Given the description of an element on the screen output the (x, y) to click on. 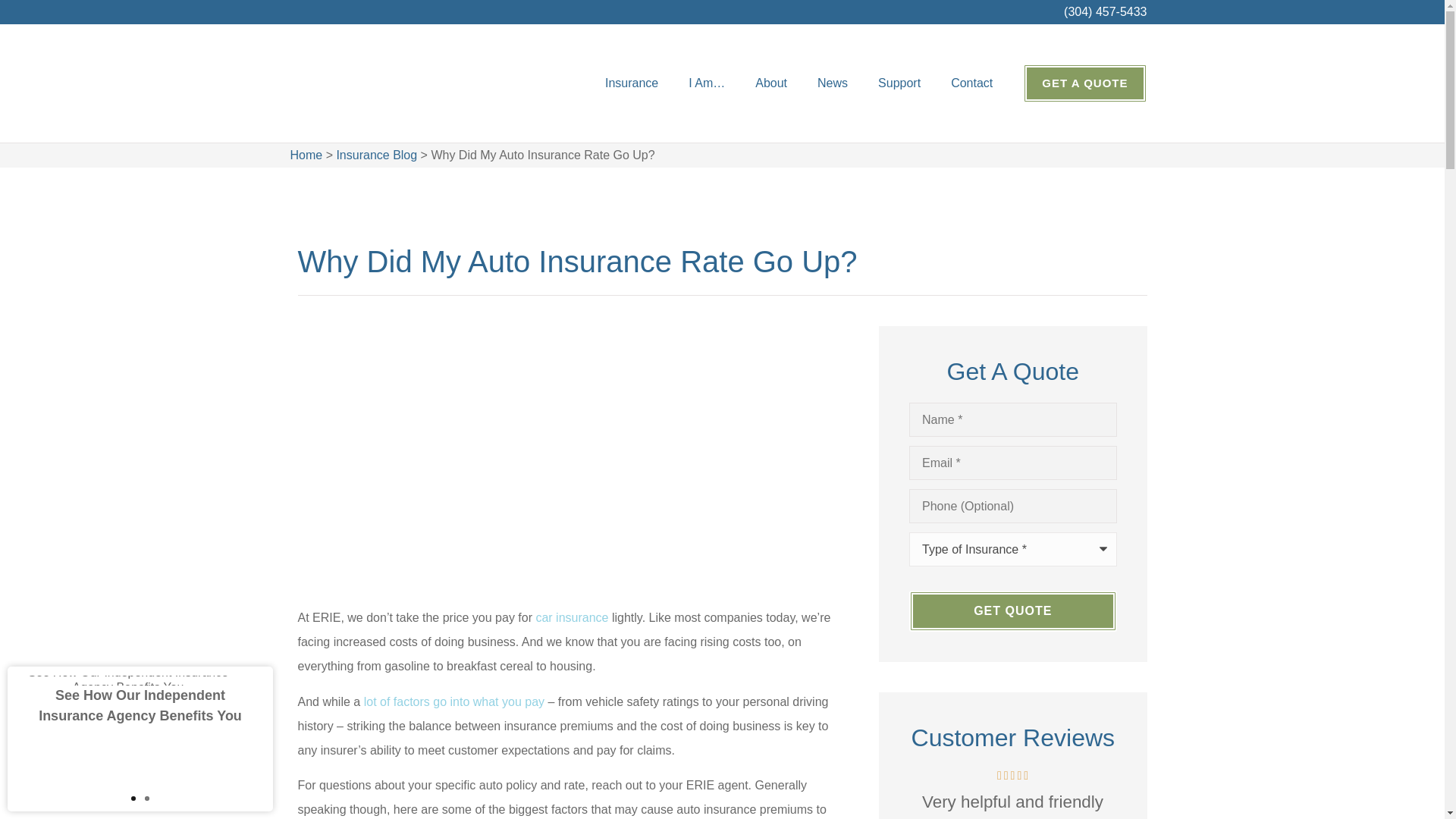
Support (899, 83)
cvechko-logo (343, 83)
News (832, 83)
Insurance (630, 83)
Get Quote (1012, 610)
About (770, 83)
